Given the description of an element on the screen output the (x, y) to click on. 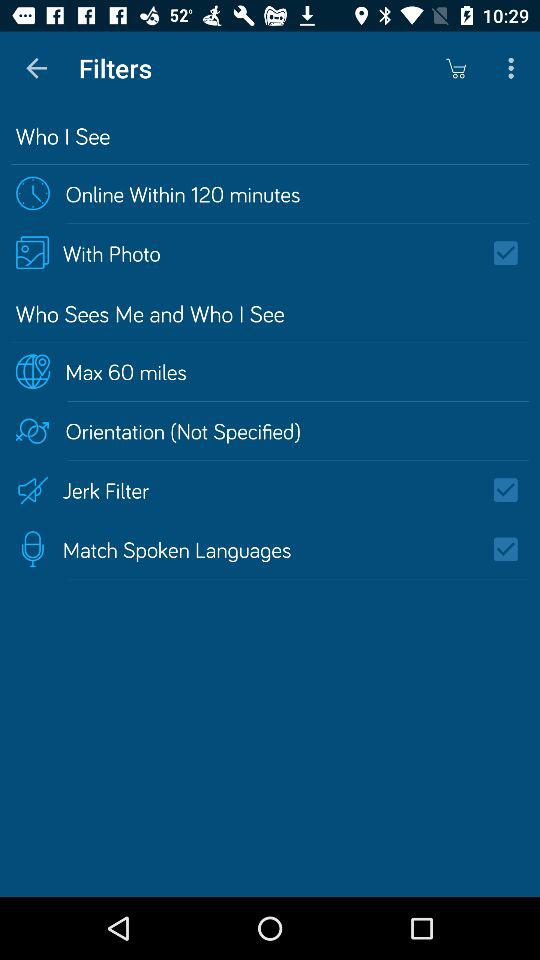
toggle with photo option (512, 253)
